Given the description of an element on the screen output the (x, y) to click on. 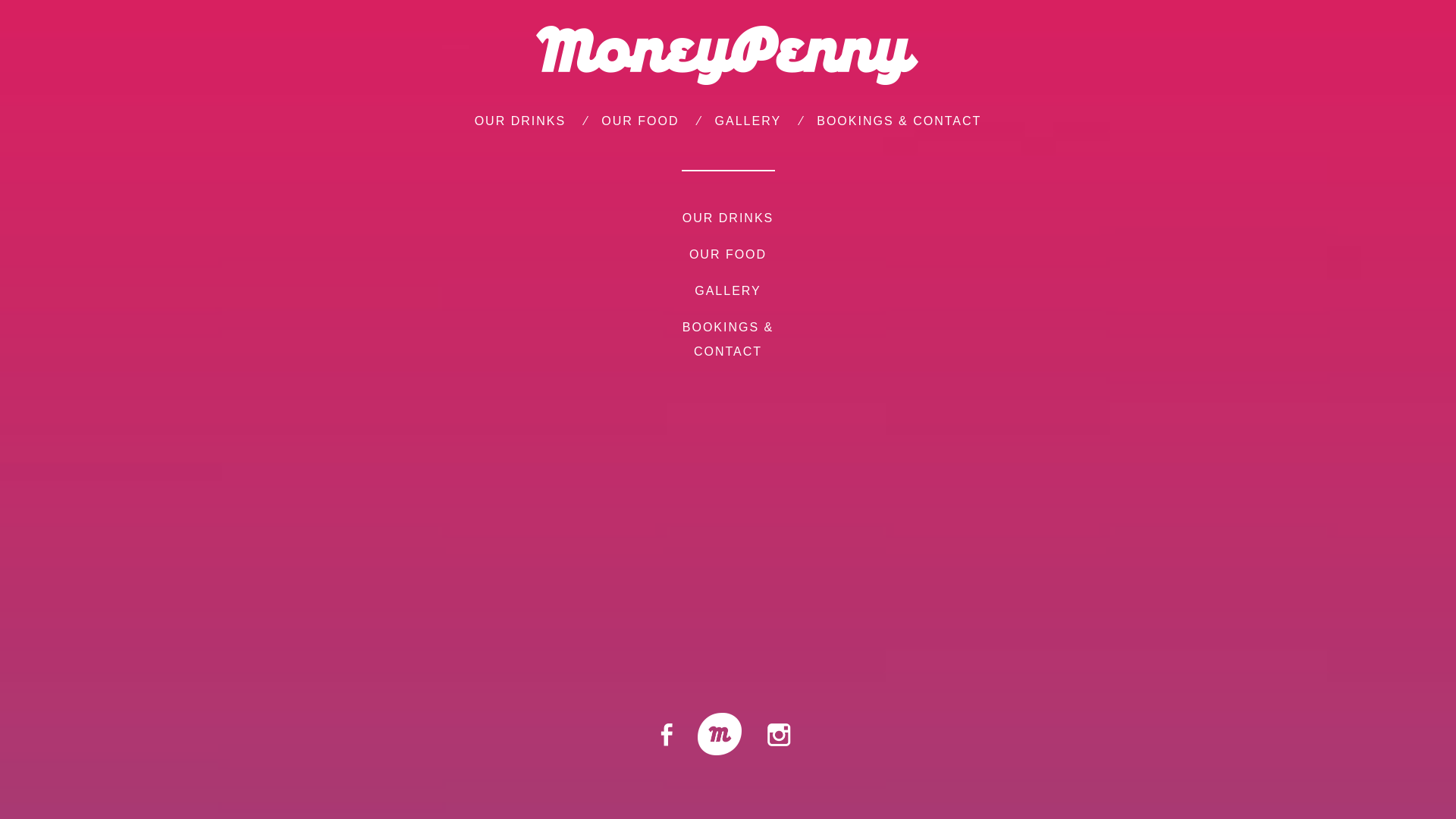
BOOKINGS & CONTACT Element type: text (898, 120)
BOOKINGS & CONTACT Element type: text (727, 338)
OUR FOOD Element type: text (727, 253)
OUR DRINKS Element type: text (519, 120)
OUR DRINKS Element type: text (727, 217)
GALLERY Element type: text (748, 120)
GALLERY Element type: text (727, 290)
OUR FOOD Element type: text (639, 120)
